Given the description of an element on the screen output the (x, y) to click on. 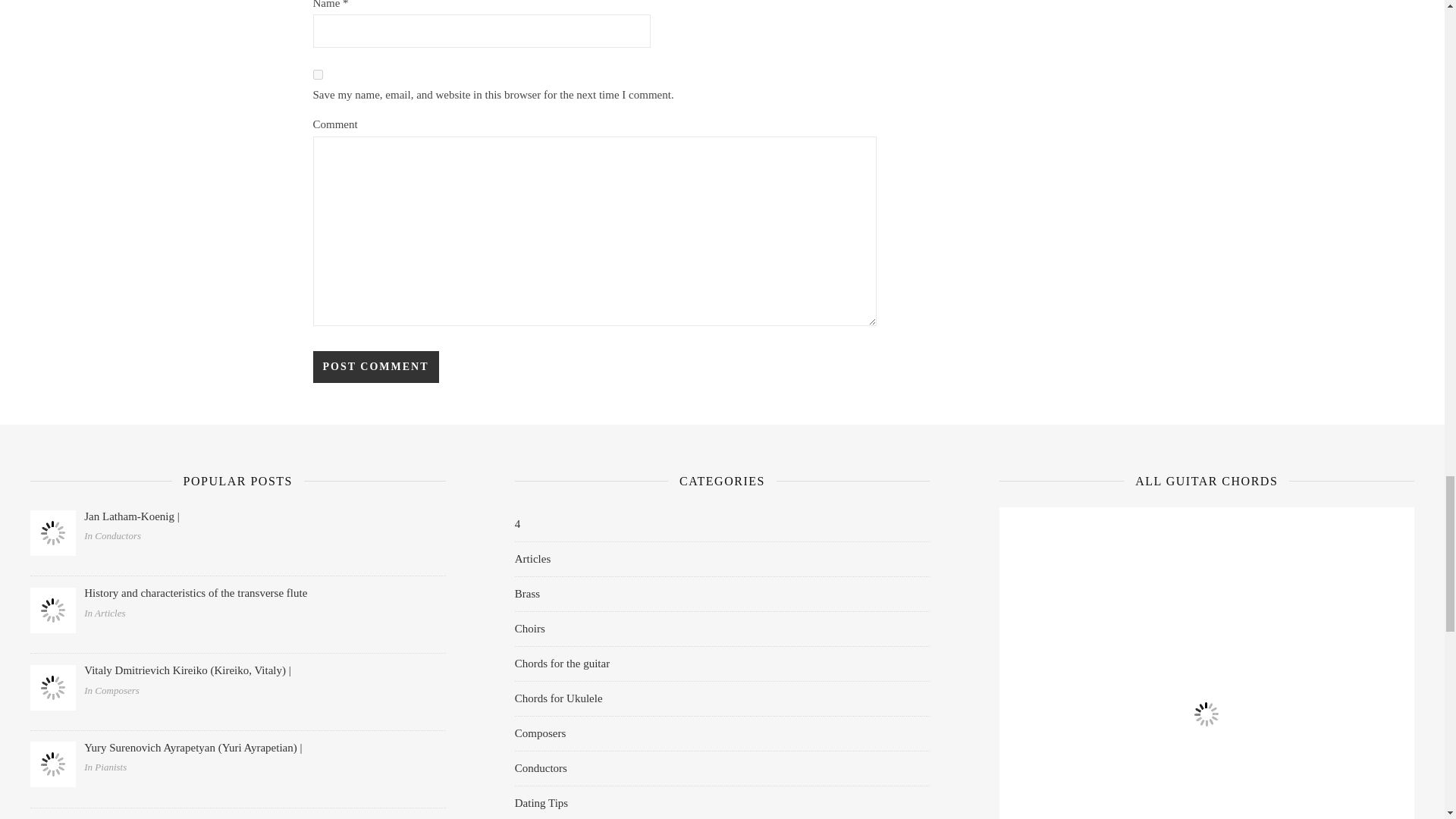
Post Comment (375, 367)
yes (317, 74)
